Given the description of an element on the screen output the (x, y) to click on. 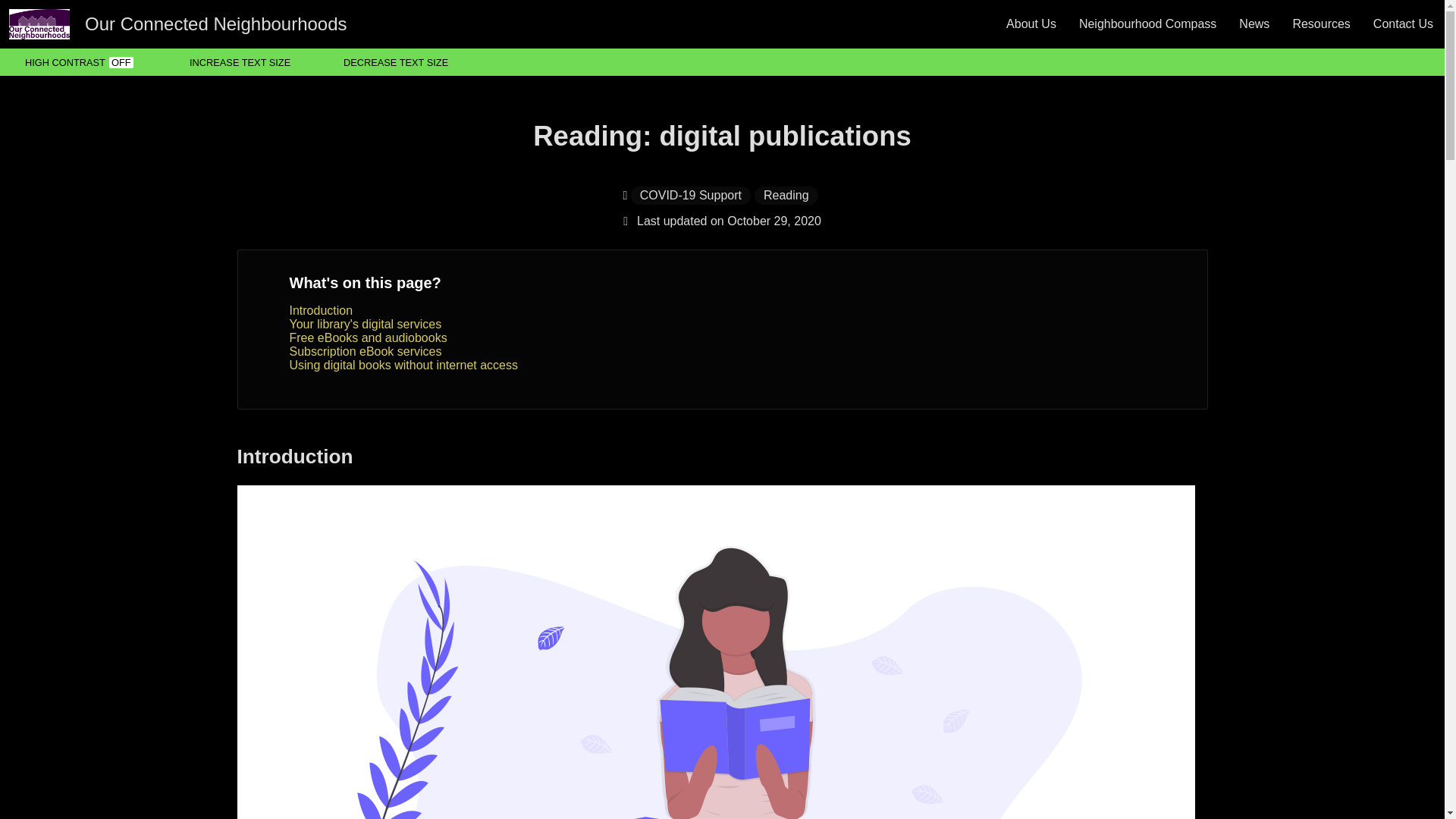
News (1254, 24)
Reading (786, 195)
Our Connected Neighbourhoods (173, 24)
DECREASE TEXT SIZE (395, 62)
Free eBooks and audiobooks (367, 337)
INCREASE TEXT SIZE (239, 62)
HIGH CONTRAST (80, 62)
Using digital books without internet access (403, 364)
About Us (1030, 24)
Introduction (321, 309)
Subscription eBook services (365, 350)
COVID-19 Support (690, 195)
Resources (1321, 24)
Neighbourhood Compass (1147, 24)
Your library's digital services (365, 323)
